Given the description of an element on the screen output the (x, y) to click on. 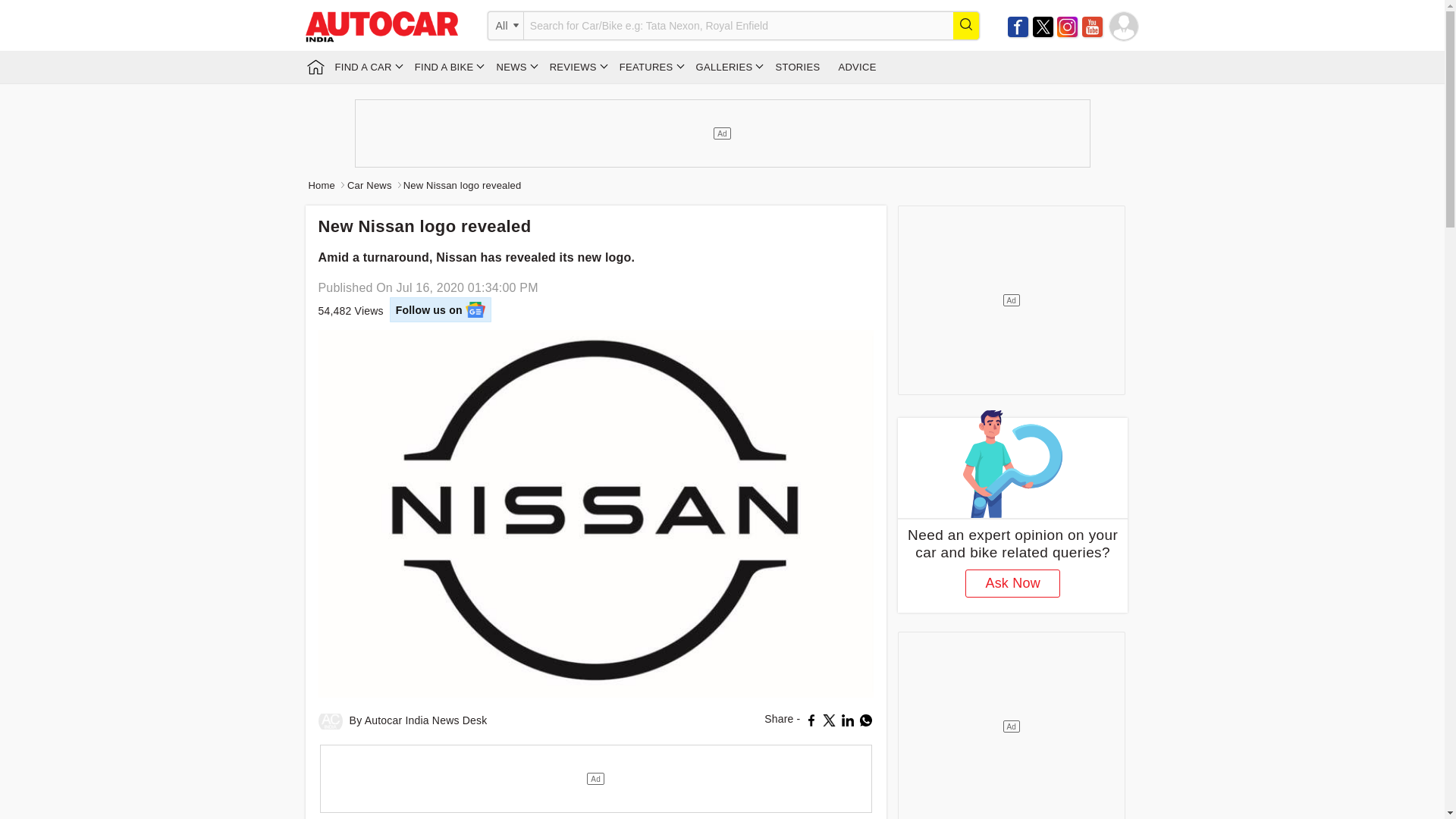
FIND A BIKE (446, 66)
FIND A CAR (366, 66)
